Given the description of an element on the screen output the (x, y) to click on. 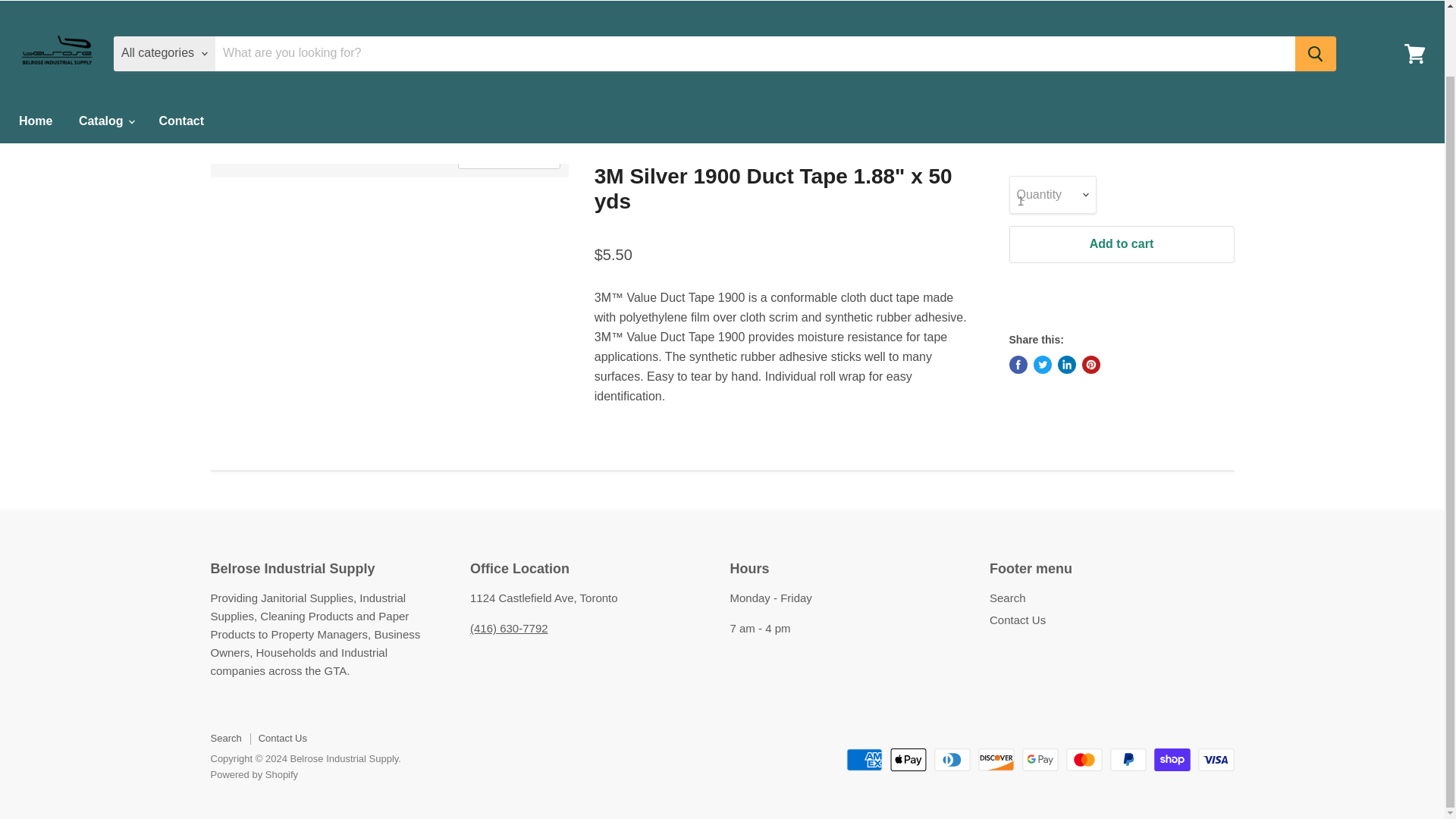
Discover (996, 759)
Google Pay (1040, 759)
Catalog (105, 85)
Apple Pay (907, 759)
Contact (181, 85)
Add to cart (1121, 244)
PayPal (1128, 759)
View cart (1414, 17)
Visa (1216, 759)
American Express (863, 759)
